Given the description of an element on the screen output the (x, y) to click on. 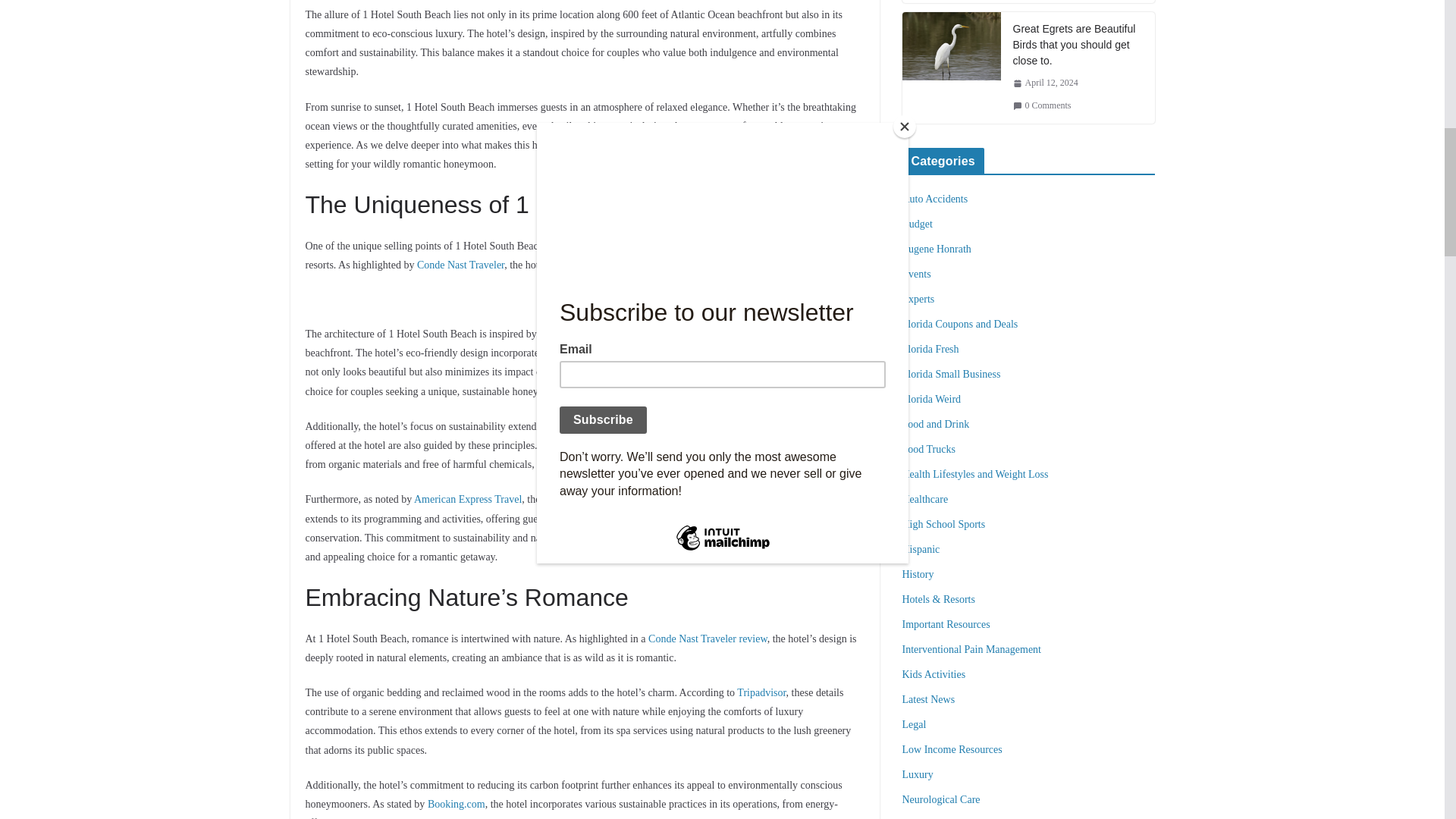
Conde Nast Traveler review (707, 638)
Tripadvisor (752, 426)
Conde Nast Traveler (459, 265)
Booking.com (456, 803)
Tripadvisor (761, 692)
American Express Travel (467, 499)
